Given the description of an element on the screen output the (x, y) to click on. 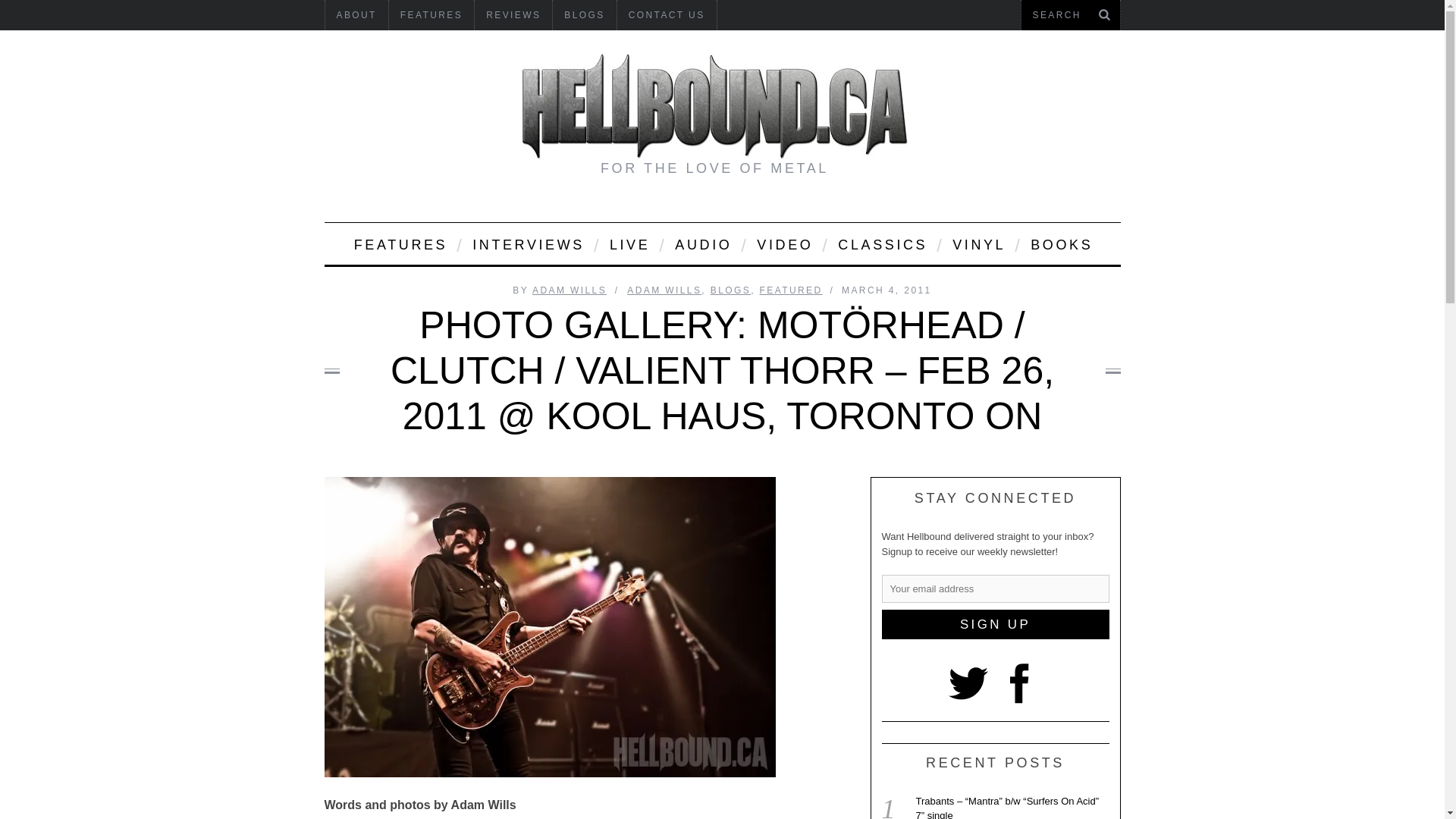
Sign up (994, 624)
Hellbound.ca - FOR THE LOVE OF METAL (714, 106)
Posts by Adam Wills (569, 290)
Search (1070, 15)
